Given the description of an element on the screen output the (x, y) to click on. 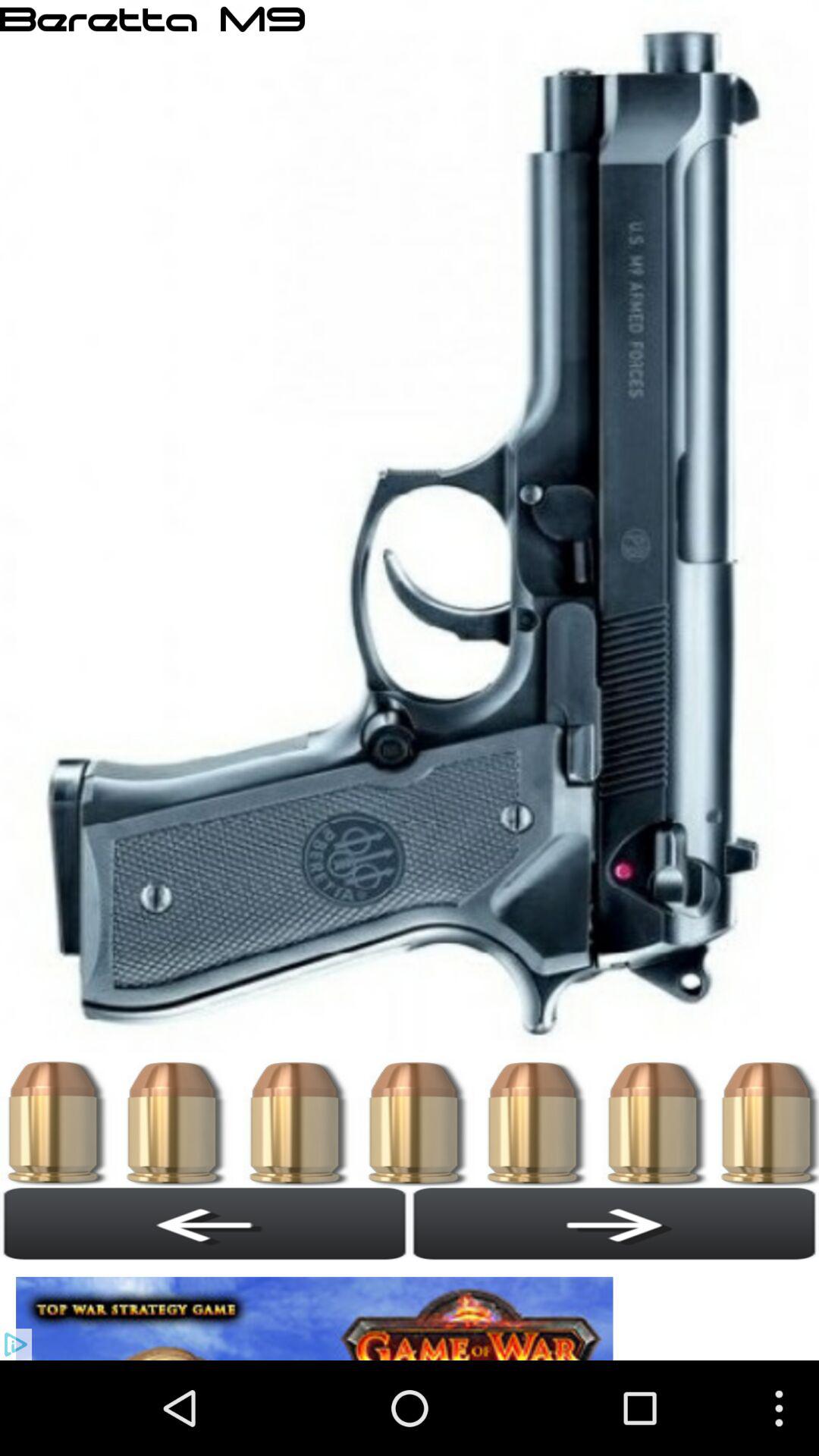
click to move option (318, 1310)
